Given the description of an element on the screen output the (x, y) to click on. 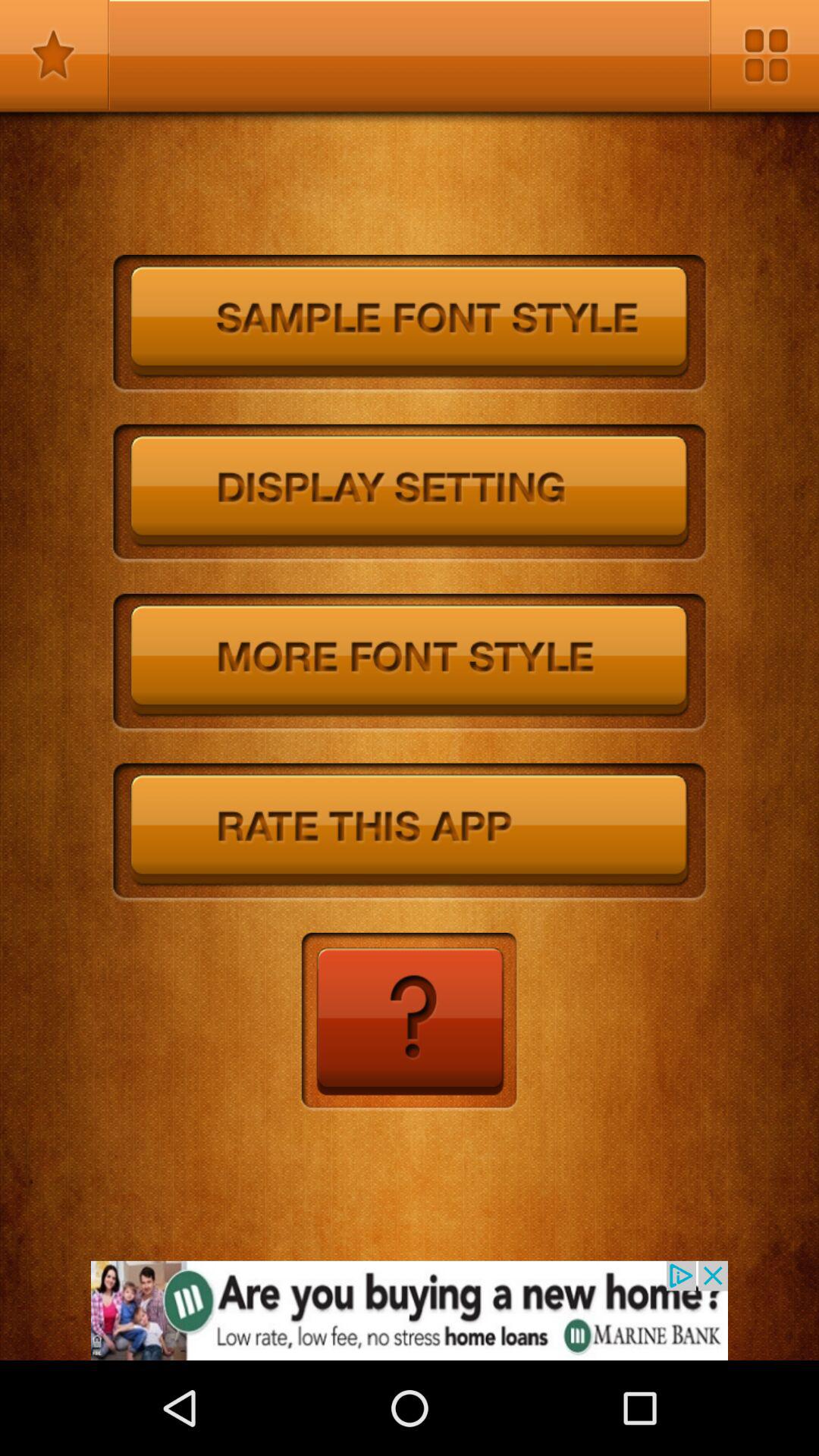
rate app (409, 832)
